Given the description of an element on the screen output the (x, y) to click on. 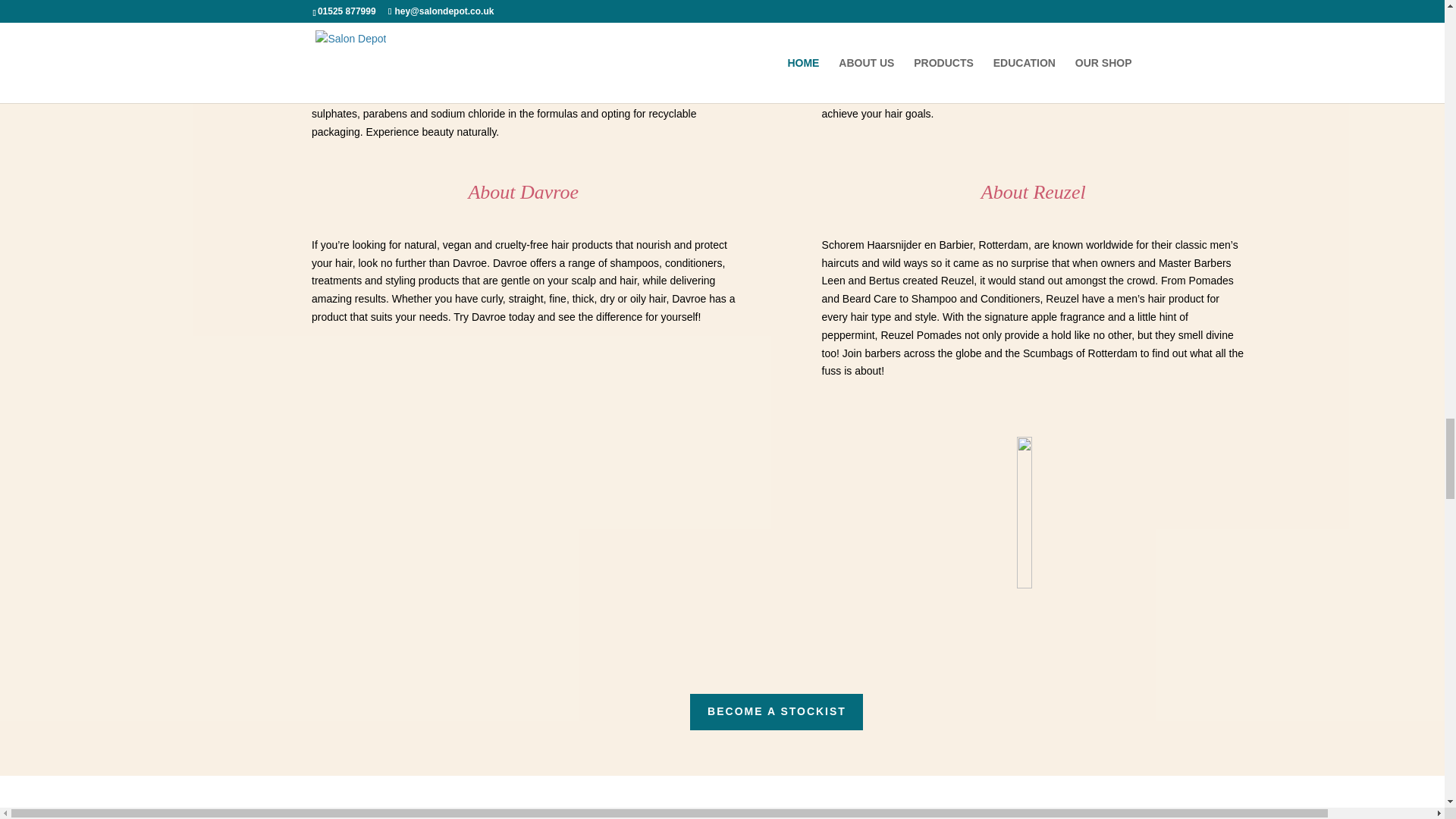
BECOME A STOCKIST (776, 711)
